Given the description of an element on the screen output the (x, y) to click on. 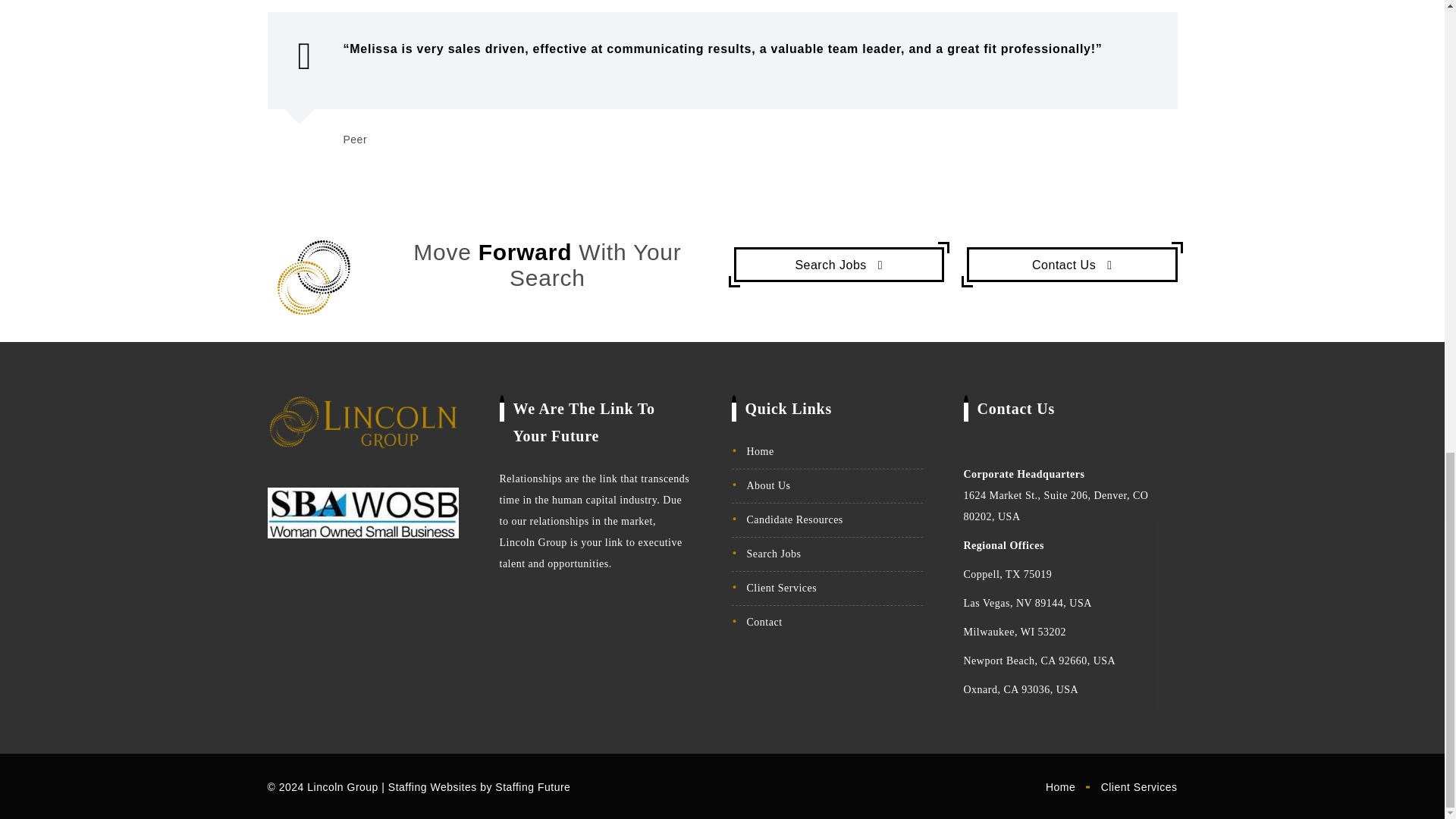
Search Jobs (838, 264)
Artboard 60 (314, 277)
About (838, 264)
About (1071, 264)
